Given the description of an element on the screen output the (x, y) to click on. 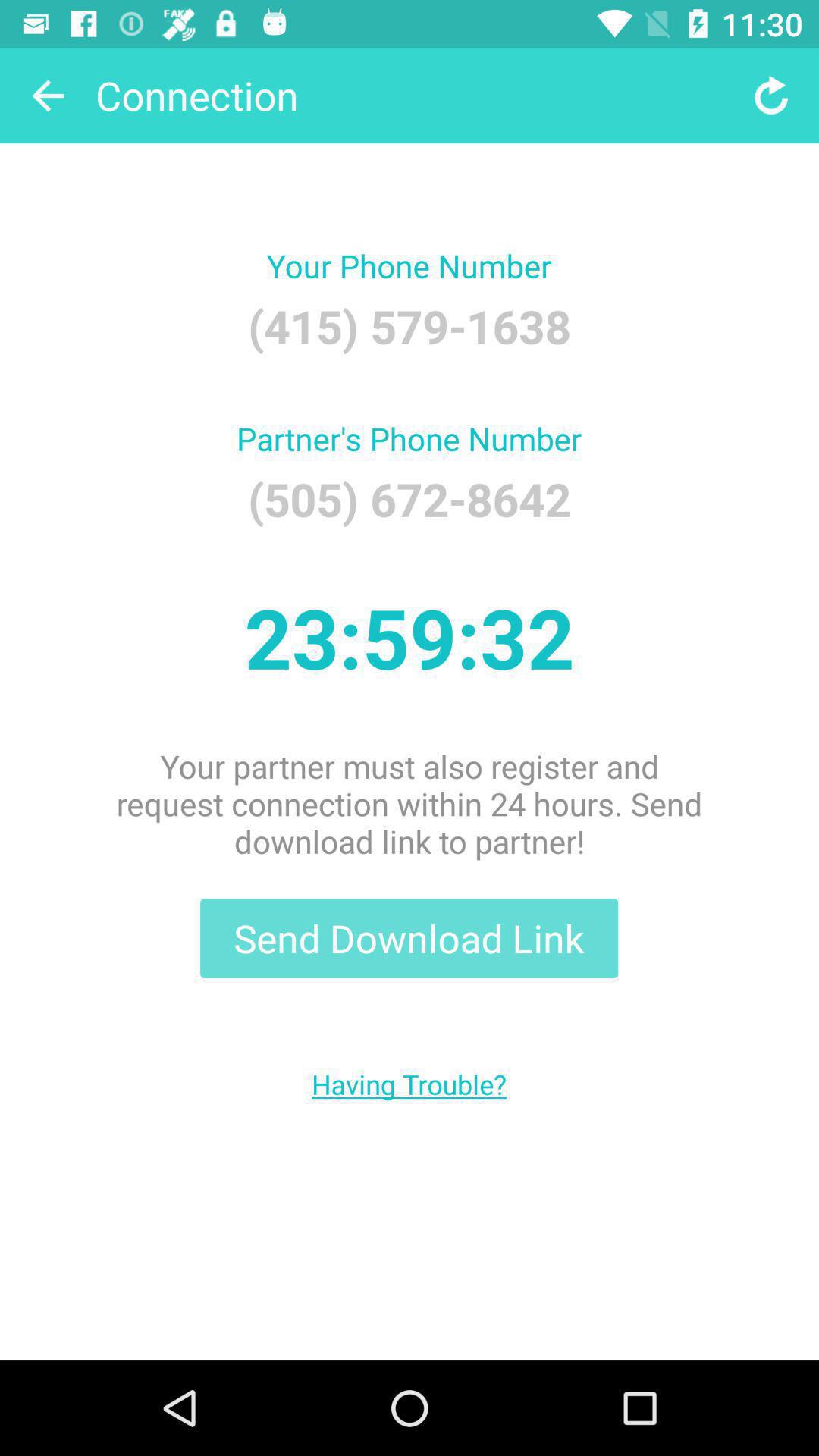
open the item to the left of the connection (47, 95)
